Given the description of an element on the screen output the (x, y) to click on. 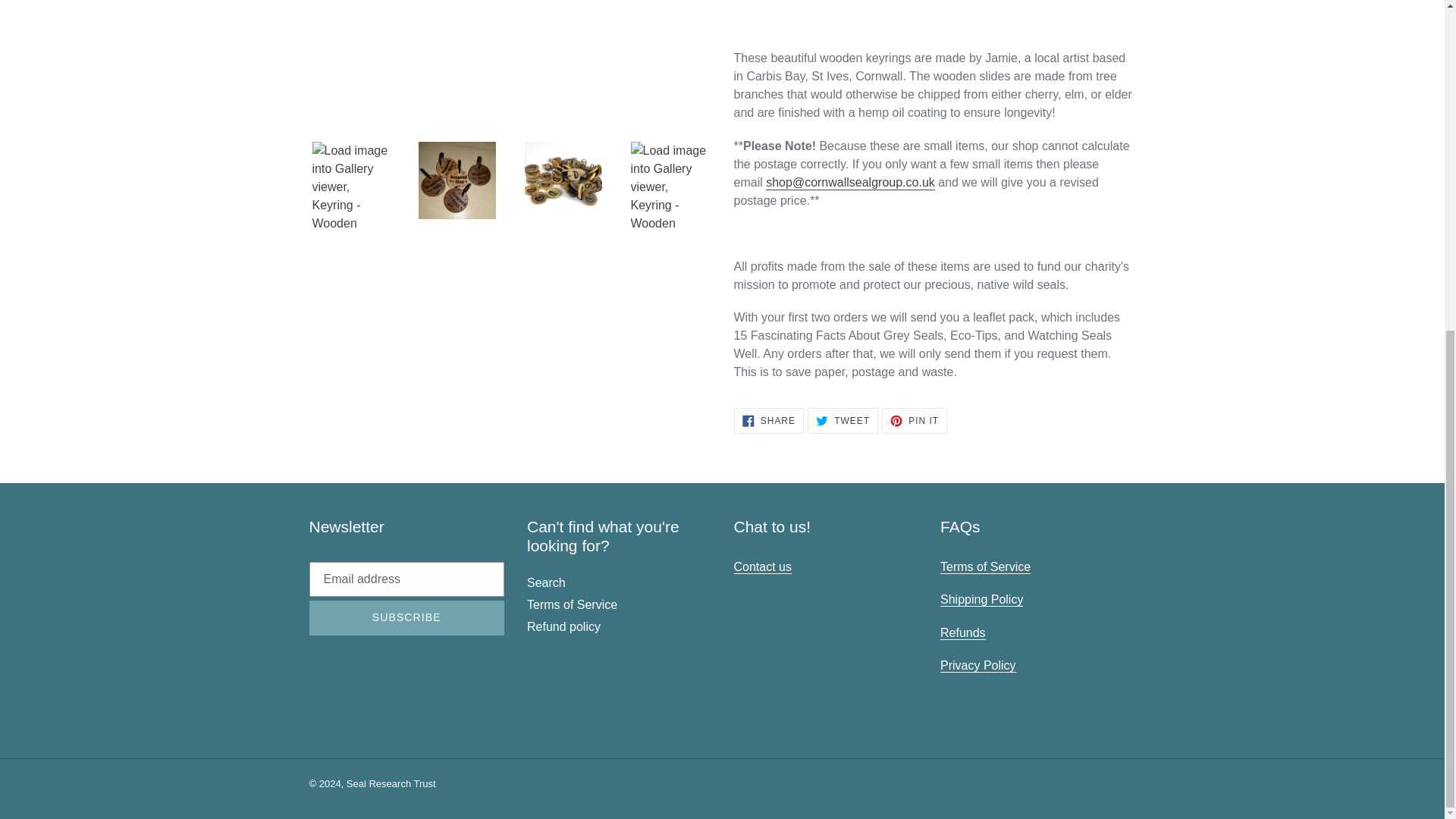
Privacy Policy (978, 665)
Shipping Policy (981, 599)
Contact us (762, 567)
Refund Policy (962, 632)
Terms of Service (985, 567)
